Given the description of an element on the screen output the (x, y) to click on. 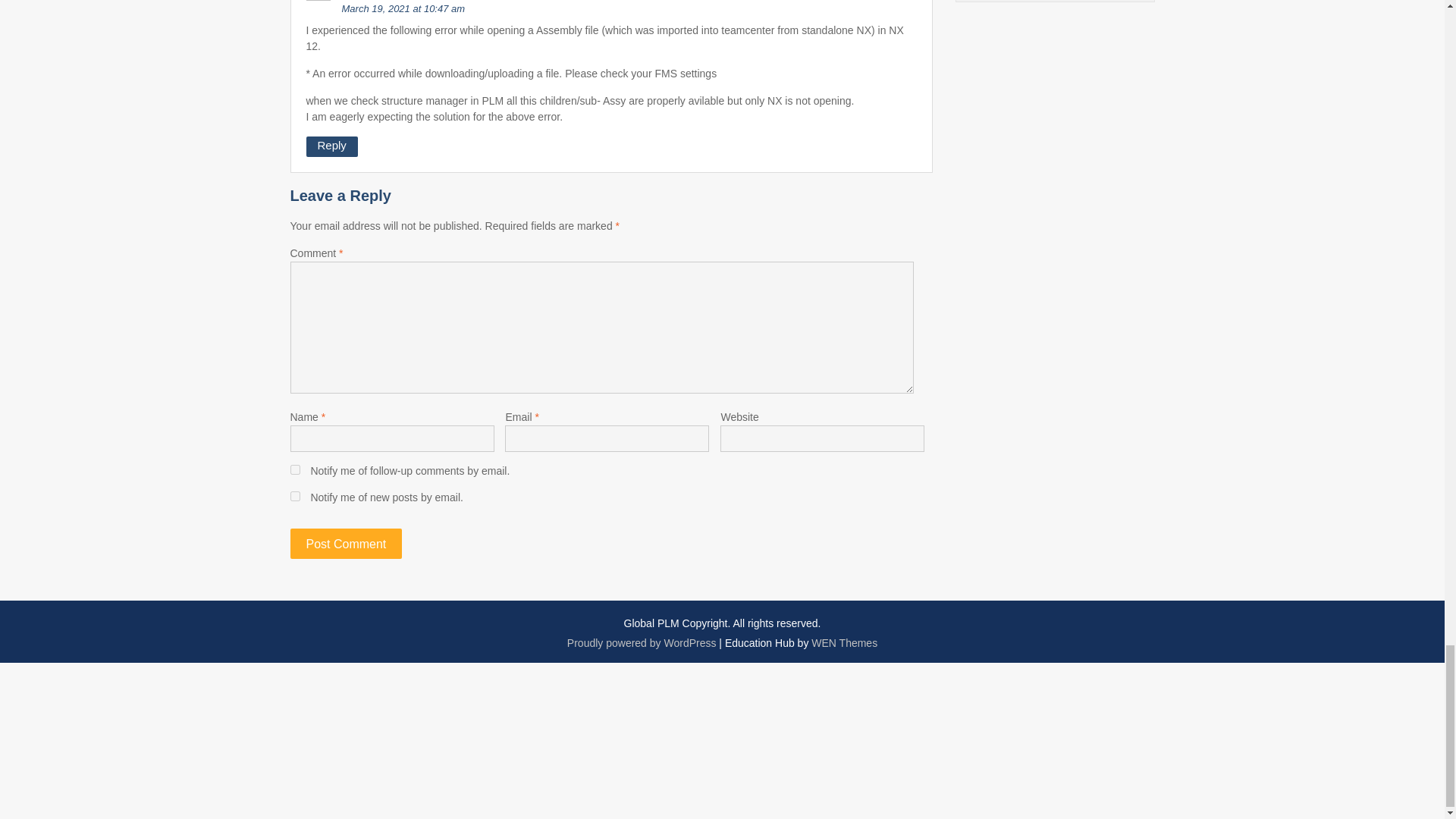
Post Comment (345, 543)
subscribe (294, 470)
subscribe (294, 496)
